Given the description of an element on the screen output the (x, y) to click on. 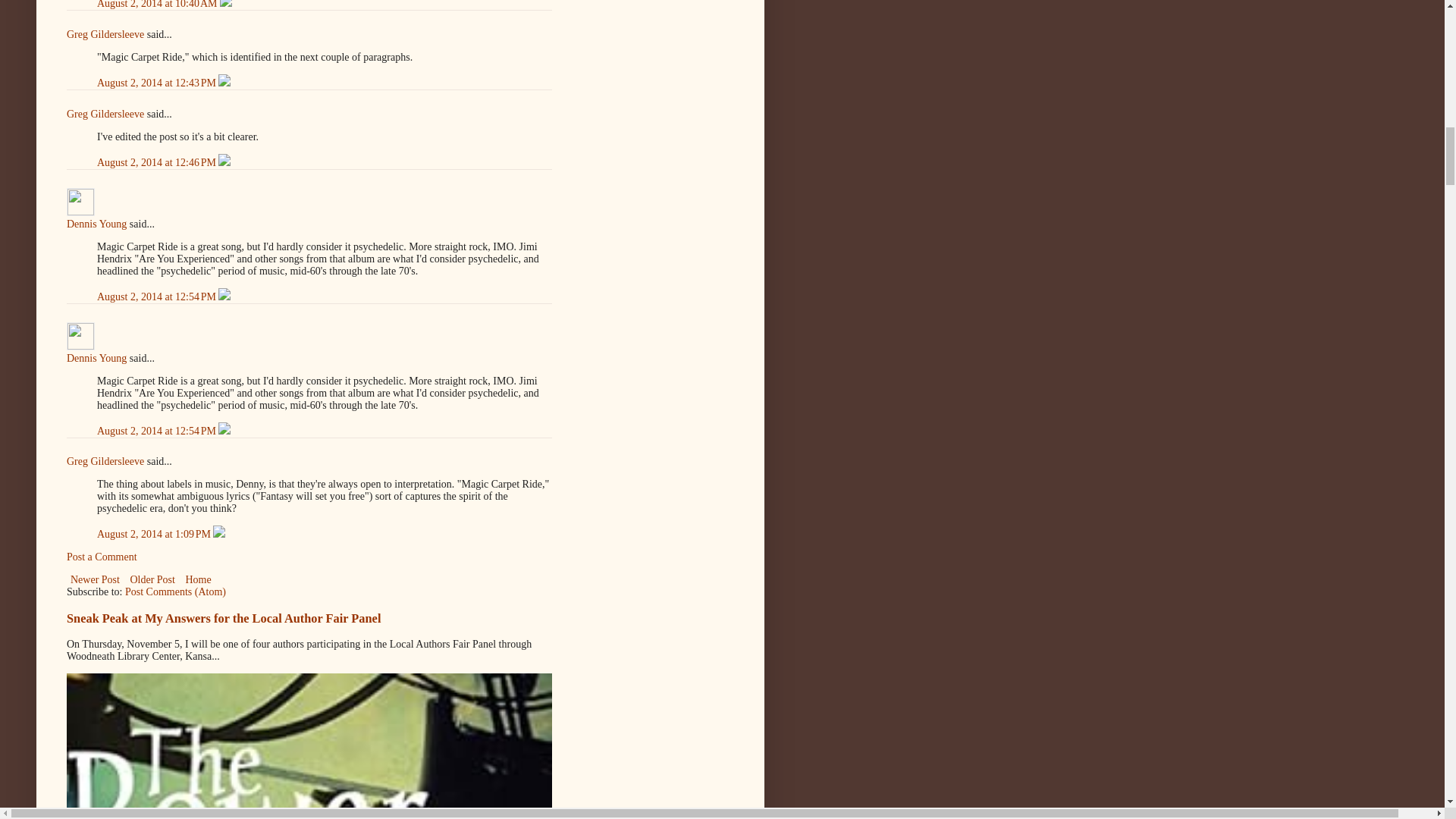
Delete Comment (224, 82)
Delete Comment (225, 4)
comment permalink (157, 82)
Greg Gildersleeve (105, 113)
Greg Gildersleeve (105, 34)
Dennis Young (96, 224)
comment permalink (158, 4)
